Given the description of an element on the screen output the (x, y) to click on. 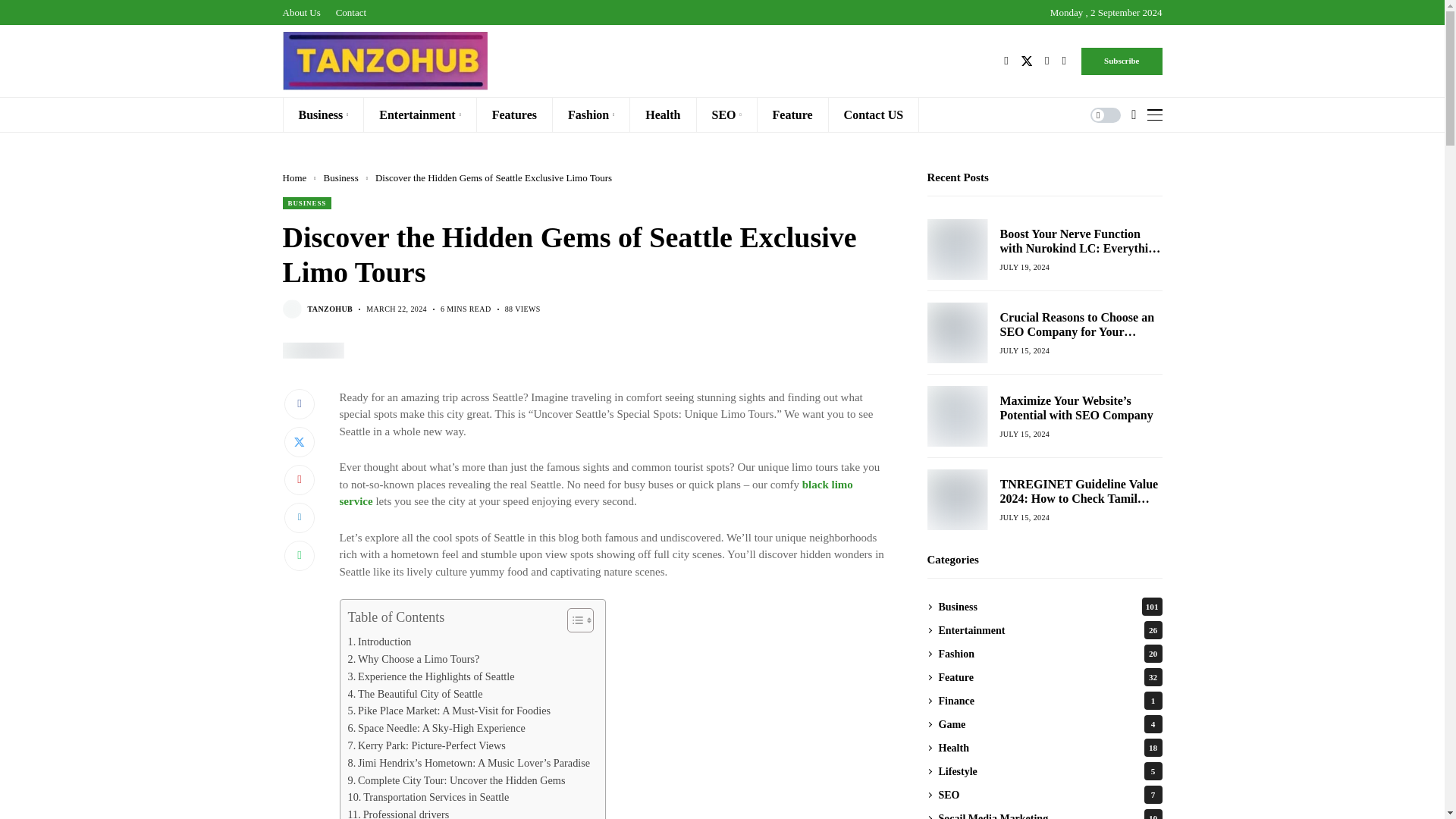
The Beautiful City of Seattle (414, 693)
Entertainment (420, 114)
Fashion (591, 114)
Posts by Tanzohub (330, 308)
Space Needle: A Sky-High Experience (435, 728)
Contact US (874, 114)
Complete City Tour: Uncover the Hidden Gems (455, 780)
Contact (351, 12)
Feature (792, 114)
Pike Place Market: A Must-Visit for Foodies (448, 710)
